Given the description of an element on the screen output the (x, y) to click on. 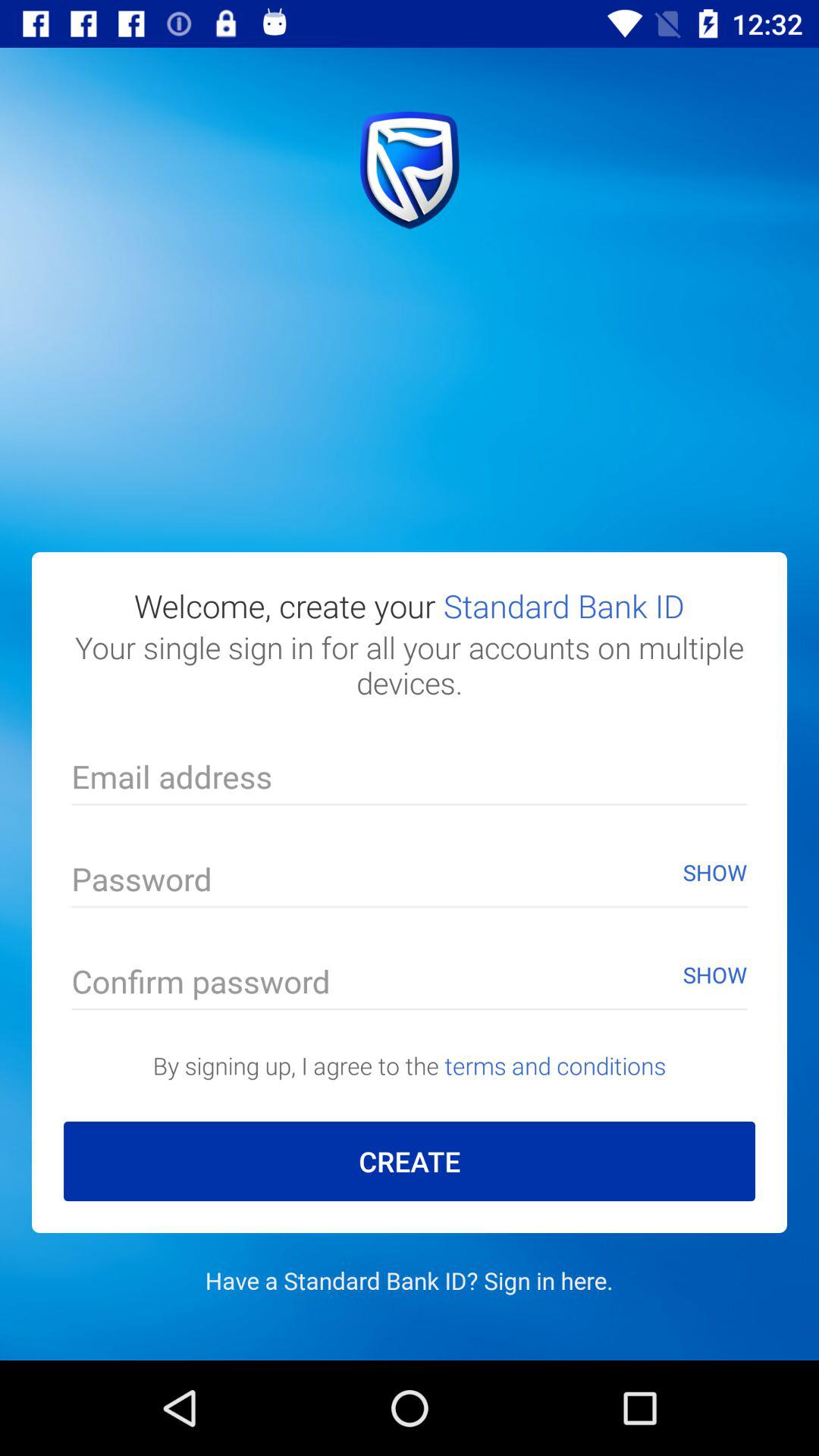
create password (409, 882)
